Given the description of an element on the screen output the (x, y) to click on. 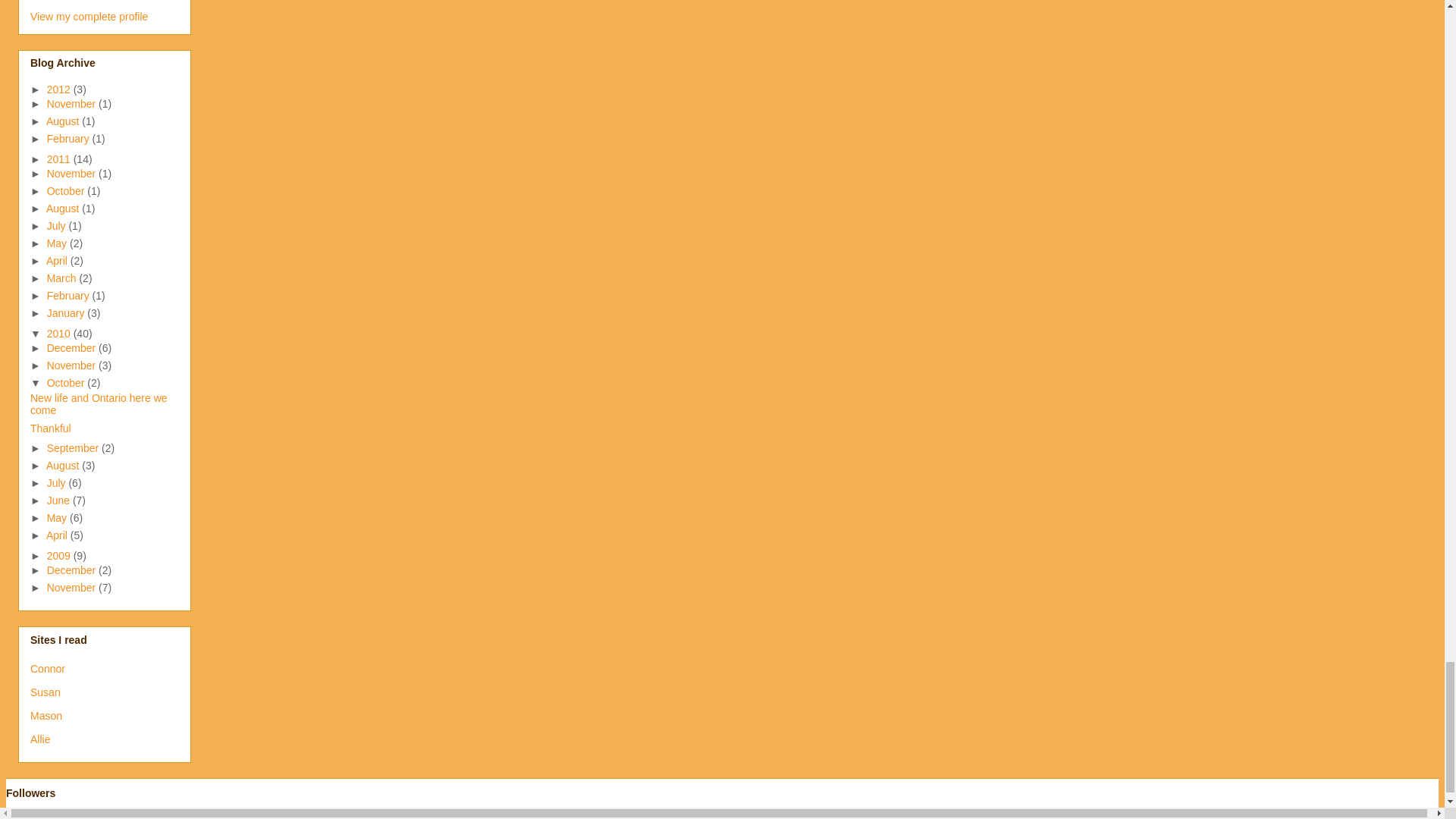
February (69, 138)
2011 (60, 159)
2012 (60, 89)
View my complete profile (89, 16)
August (63, 121)
November (72, 103)
